Given the description of an element on the screen output the (x, y) to click on. 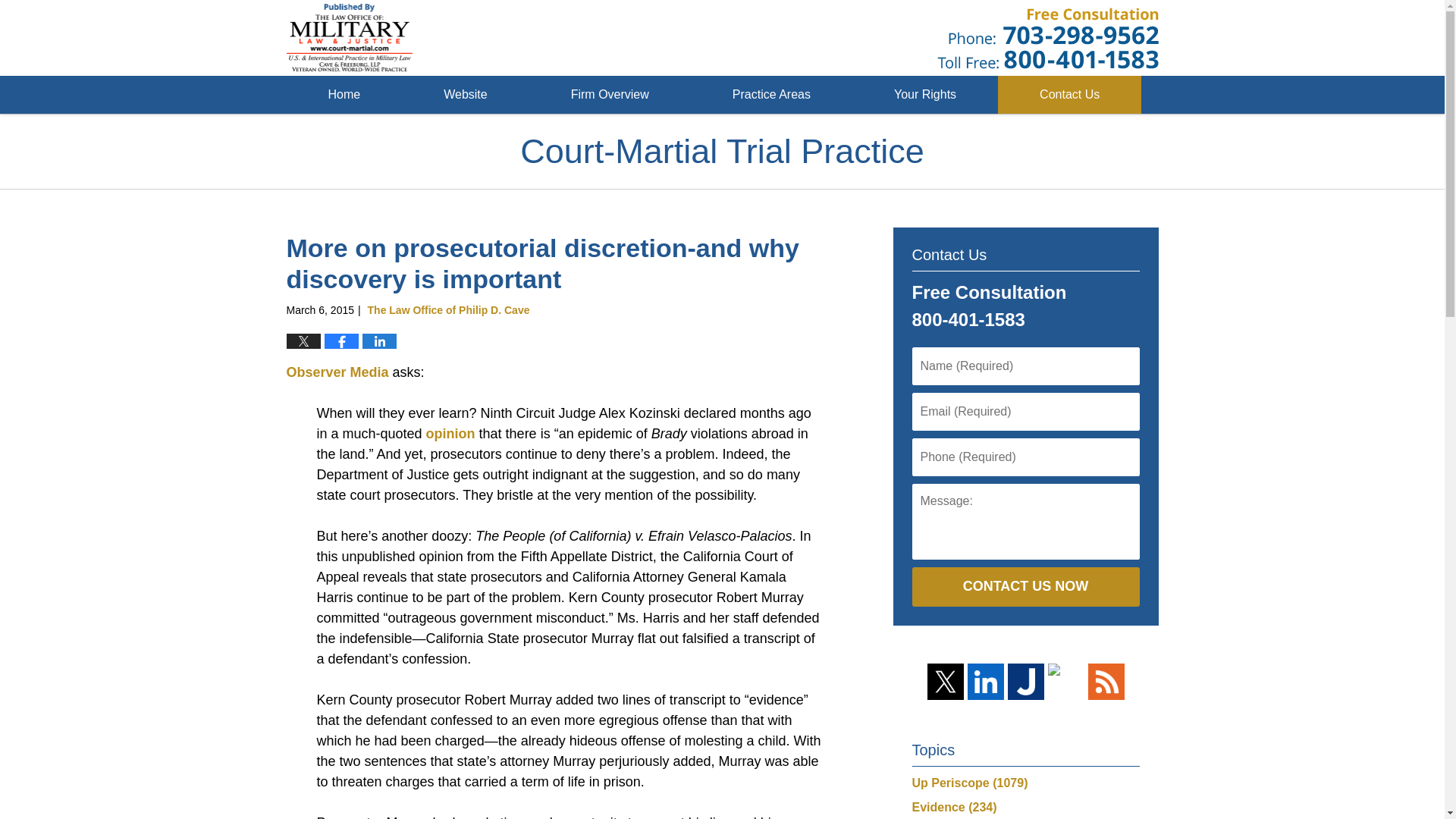
Practice Areas (770, 94)
Twitter (944, 681)
Website (465, 94)
The Law Office of Philip D. Cave (448, 309)
Firm Overview (609, 94)
Your Rights (924, 94)
Court-Martial Trial Practice Blog (349, 38)
Contact Us (1069, 94)
CONTACT US NOW (1024, 586)
Observer Media (337, 372)
Home (344, 94)
Feed (1105, 681)
Please enter a valid phone number. (1024, 456)
Justia (1025, 681)
LinkedIn (986, 681)
